Given the description of an element on the screen output the (x, y) to click on. 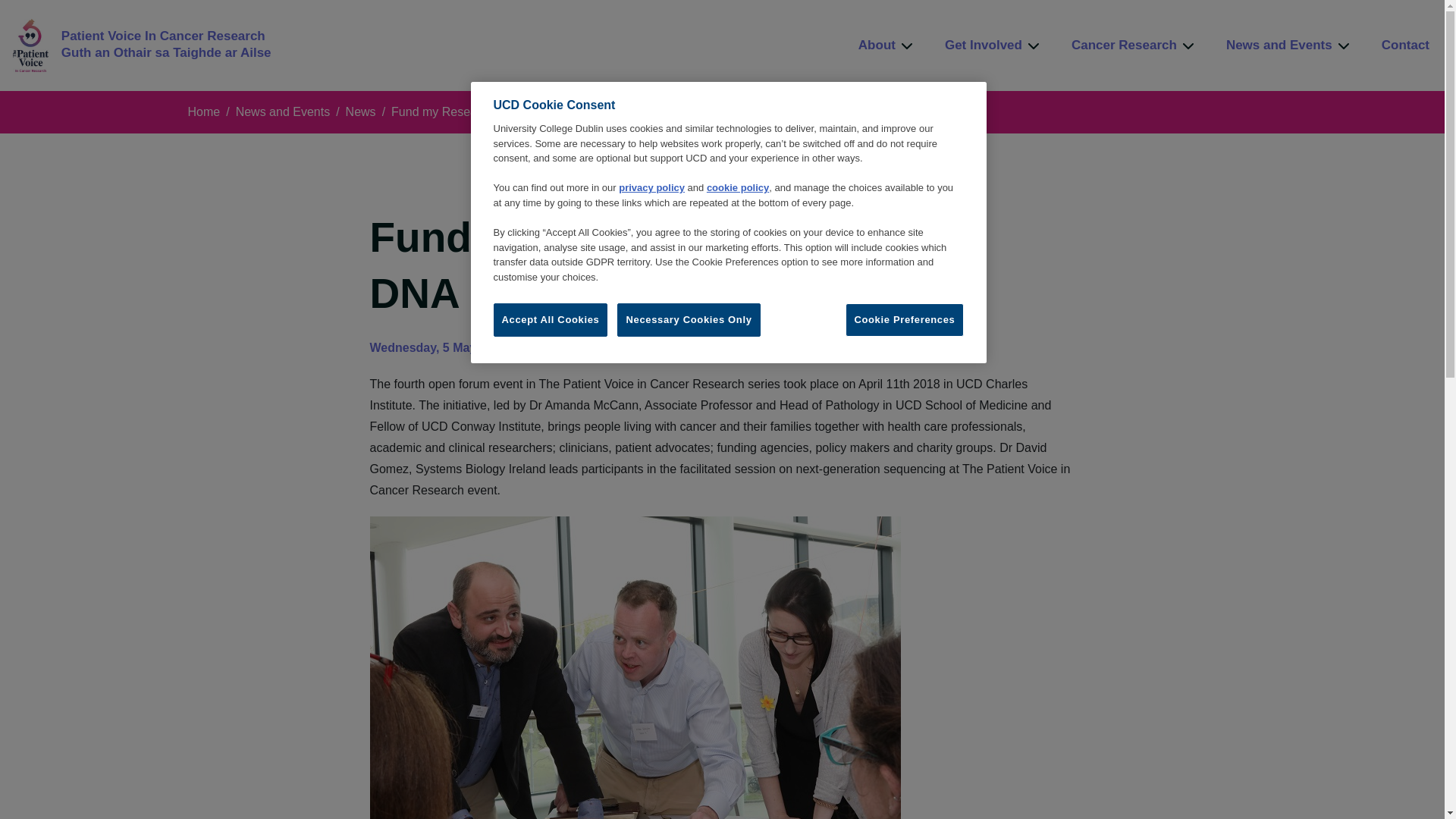
About (886, 45)
Cancer Research (1134, 45)
News and Events (1289, 45)
Get Involved (993, 45)
Go to 'Home' page (141, 45)
